Given the description of an element on the screen output the (x, y) to click on. 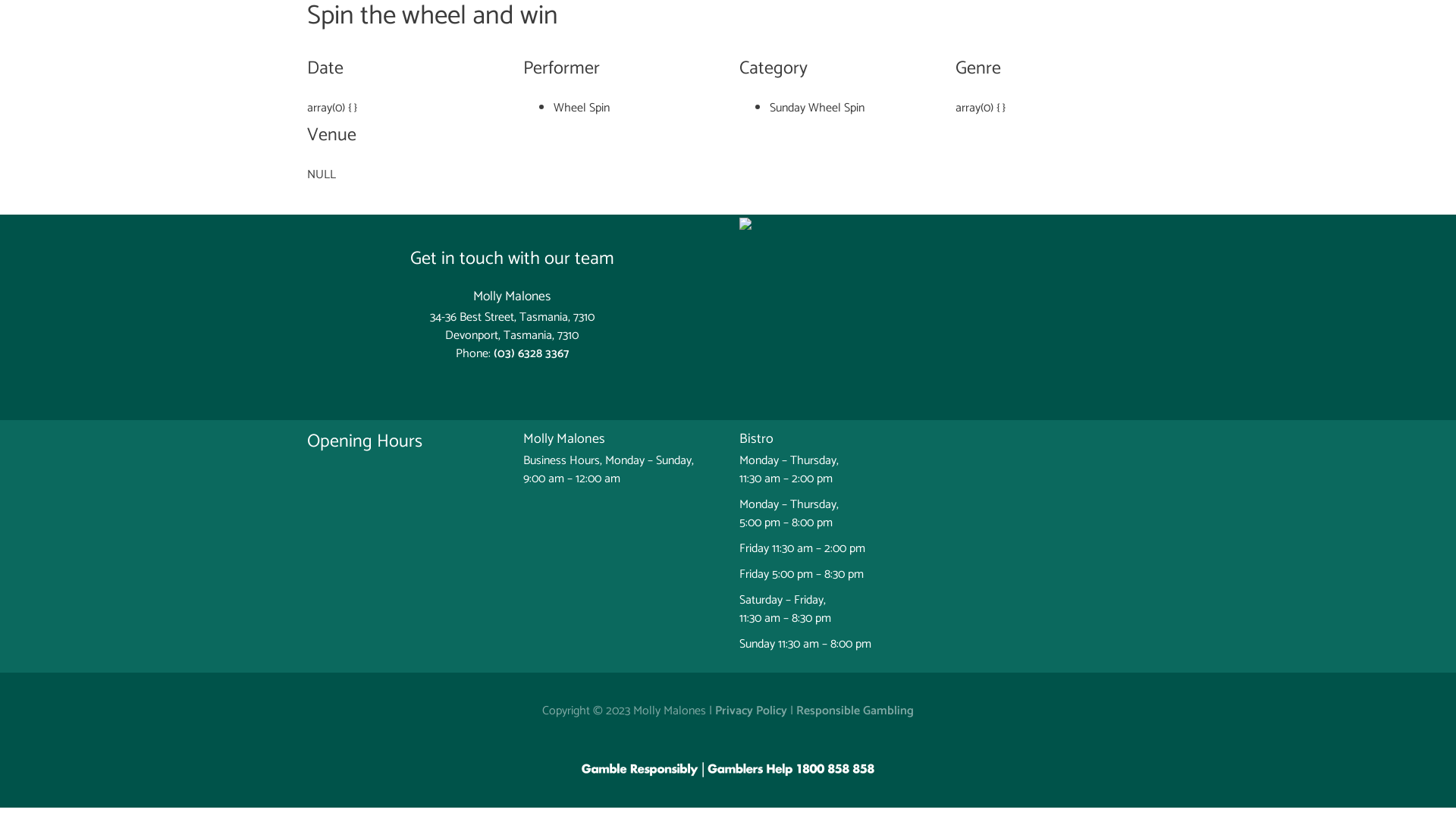
Responsible Gambling Element type: text (854, 710)
TripAdvisor Element type: hover (522, 383)
Facebook Element type: hover (500, 379)
Google Maps Element type: hover (943, 223)
(03) 6328 3367 Element type: text (529, 353)
Privacy Policy Element type: text (751, 710)
